Given the description of an element on the screen output the (x, y) to click on. 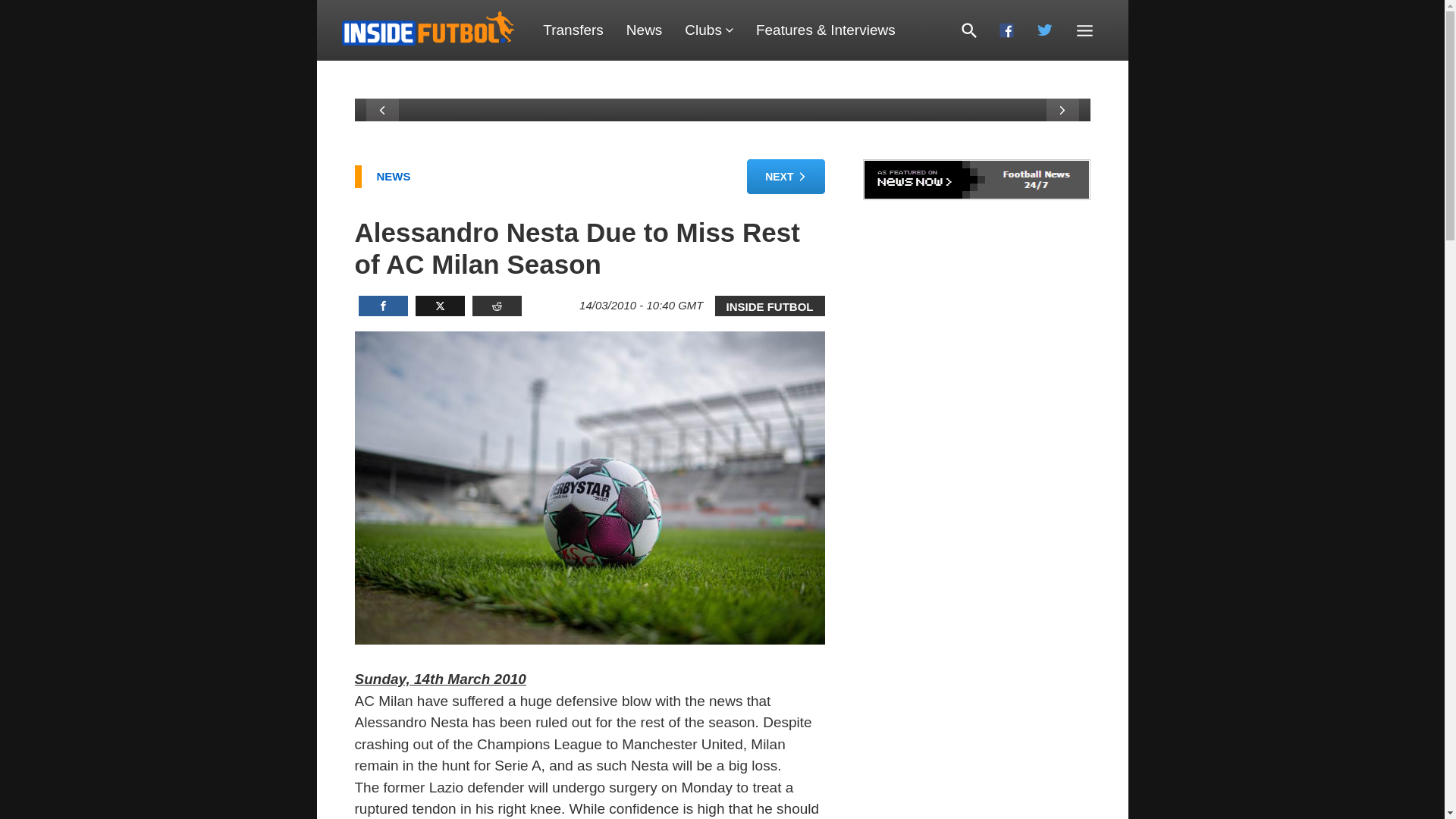
News (644, 30)
Clubs (708, 30)
Transfers (572, 30)
